Given the description of an element on the screen output the (x, y) to click on. 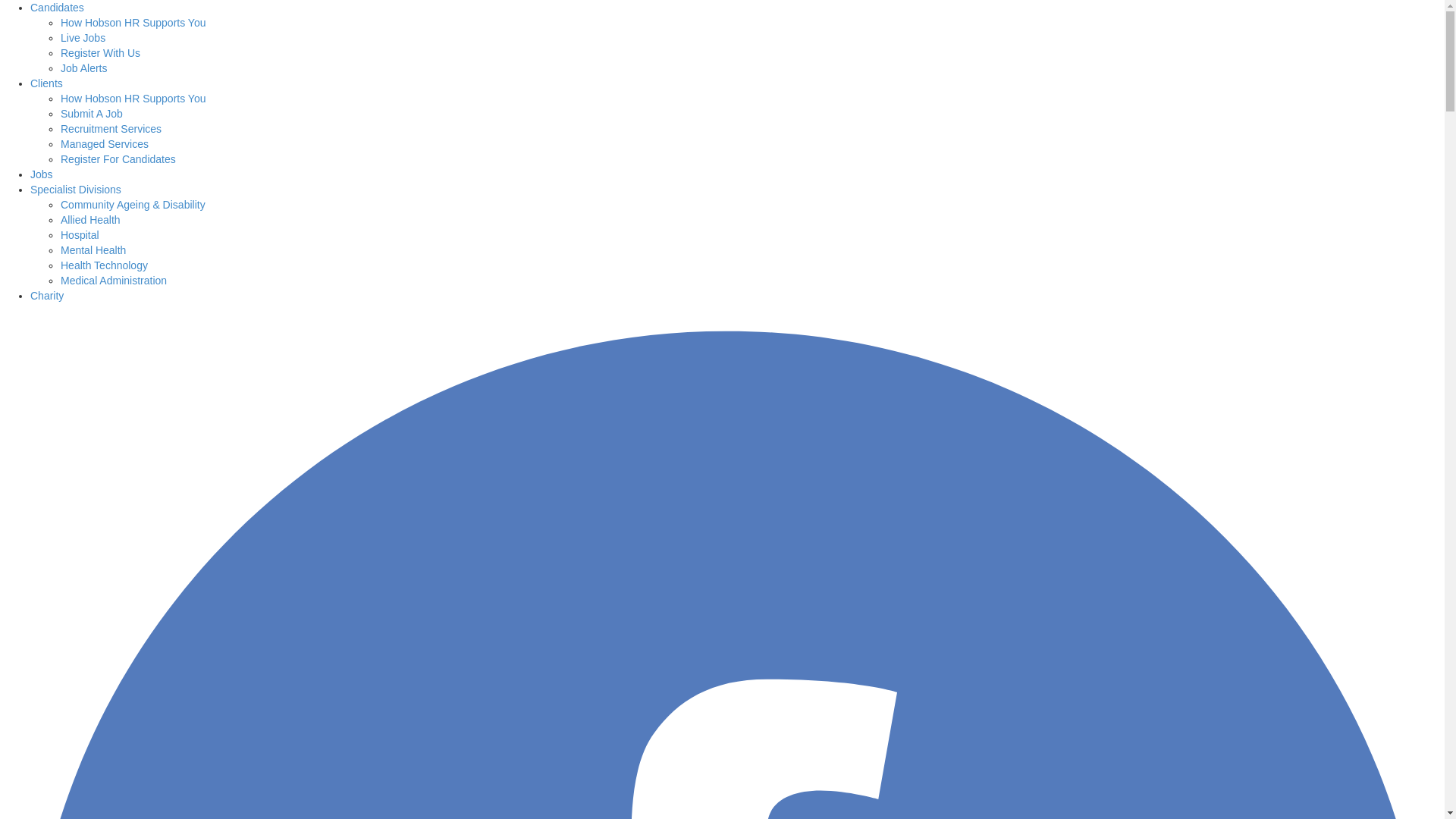
Recruitment Services Element type: text (110, 128)
Mental Health Element type: text (92, 250)
Allied Health Element type: text (90, 219)
Jobs Element type: text (41, 174)
Managed Services Element type: text (104, 144)
Hospital Element type: text (79, 235)
Candidates Element type: text (57, 7)
Clients Element type: text (46, 83)
Register With Us Element type: text (100, 53)
Submit A Job Element type: text (91, 113)
How Hobson HR Supports You Element type: text (132, 98)
Charity Element type: text (46, 295)
Community Ageing & Disability Element type: text (132, 204)
Job Alerts Element type: text (83, 68)
Live Jobs Element type: text (82, 37)
Register For Candidates Element type: text (117, 159)
Health Technology Element type: text (103, 265)
How Hobson HR Supports You Element type: text (132, 22)
Medical Administration Element type: text (113, 280)
Specialist Divisions Element type: text (75, 189)
